Given the description of an element on the screen output the (x, y) to click on. 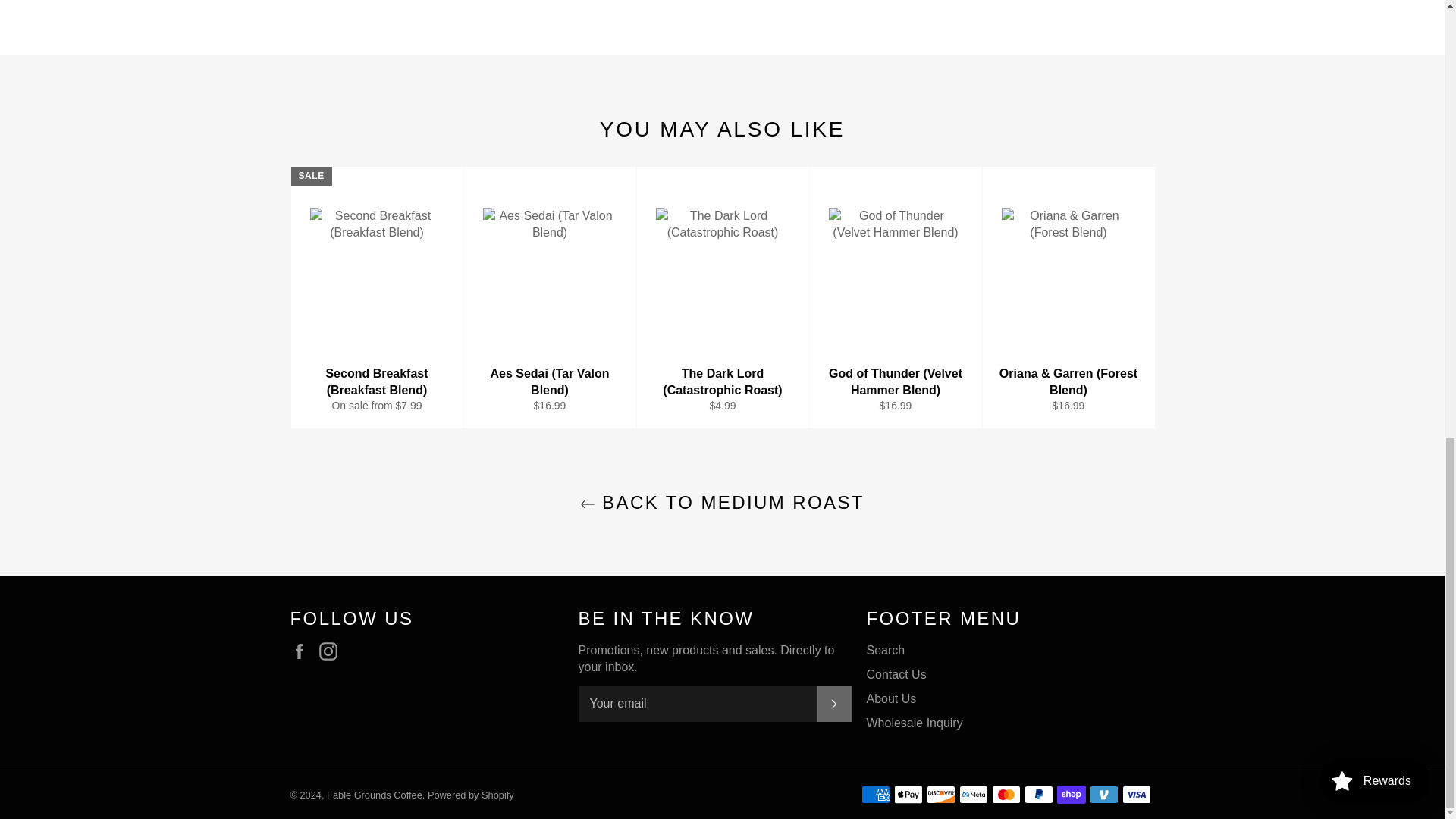
Fable Grounds Coffee on Instagram (331, 651)
Fable Grounds Coffee on Facebook (302, 651)
